Given the description of an element on the screen output the (x, y) to click on. 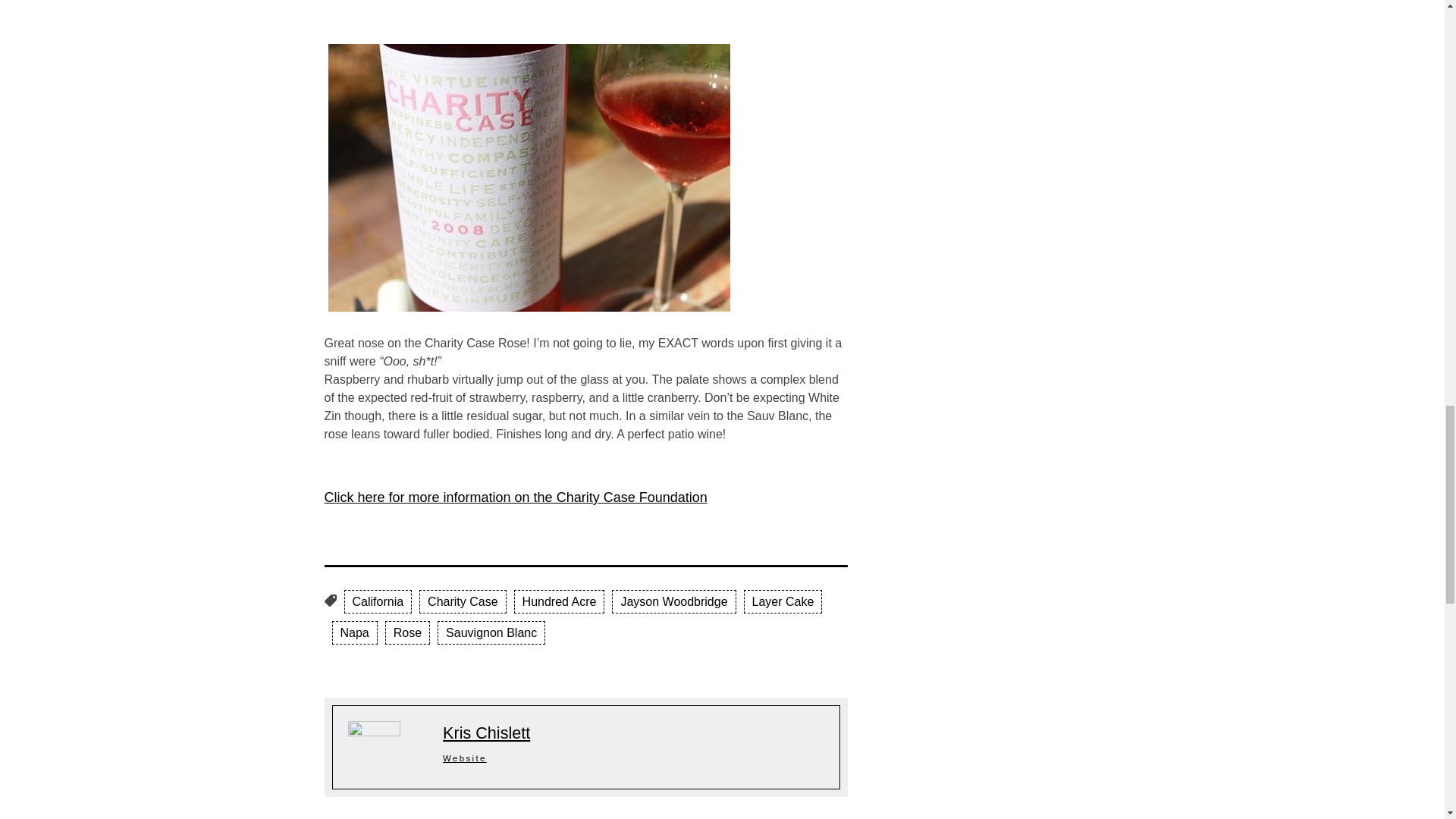
Sauvignon Blanc (491, 632)
Napa (354, 632)
Layer Cake (783, 601)
Website (464, 757)
California (377, 601)
Jayson Woodbridge (673, 601)
Rose (407, 632)
Charity Case (462, 601)
Hundred Acre (559, 601)
